Given the description of an element on the screen output the (x, y) to click on. 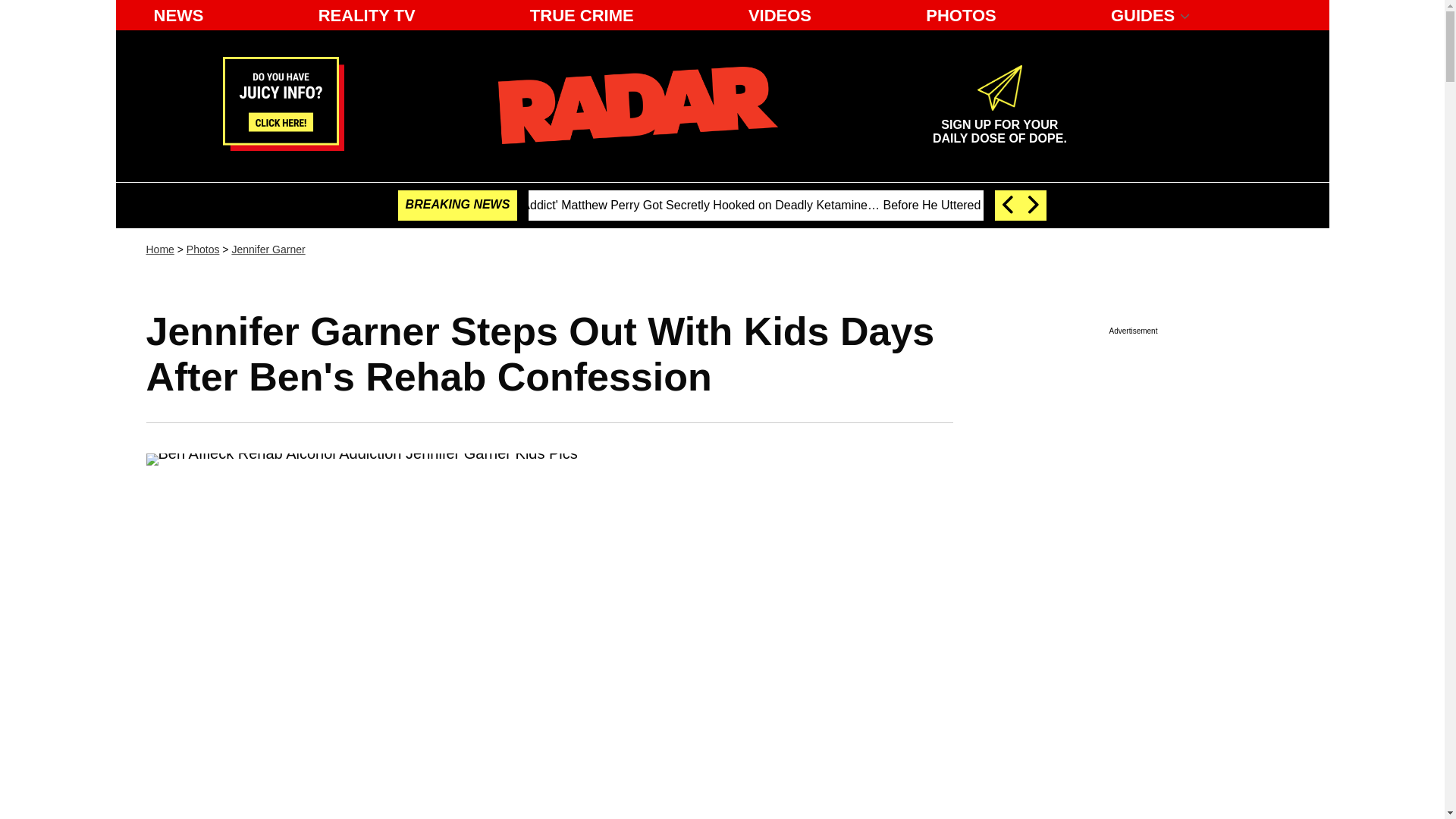
REALITY TV (367, 15)
Home (159, 249)
Jennifer Garner (267, 249)
PHOTOS (961, 15)
Photos (202, 249)
TRUE CRIME (582, 15)
Sign up for your daily dose of dope. (999, 124)
Radar Online (637, 105)
Email us your tip (282, 146)
